Given the description of an element on the screen output the (x, y) to click on. 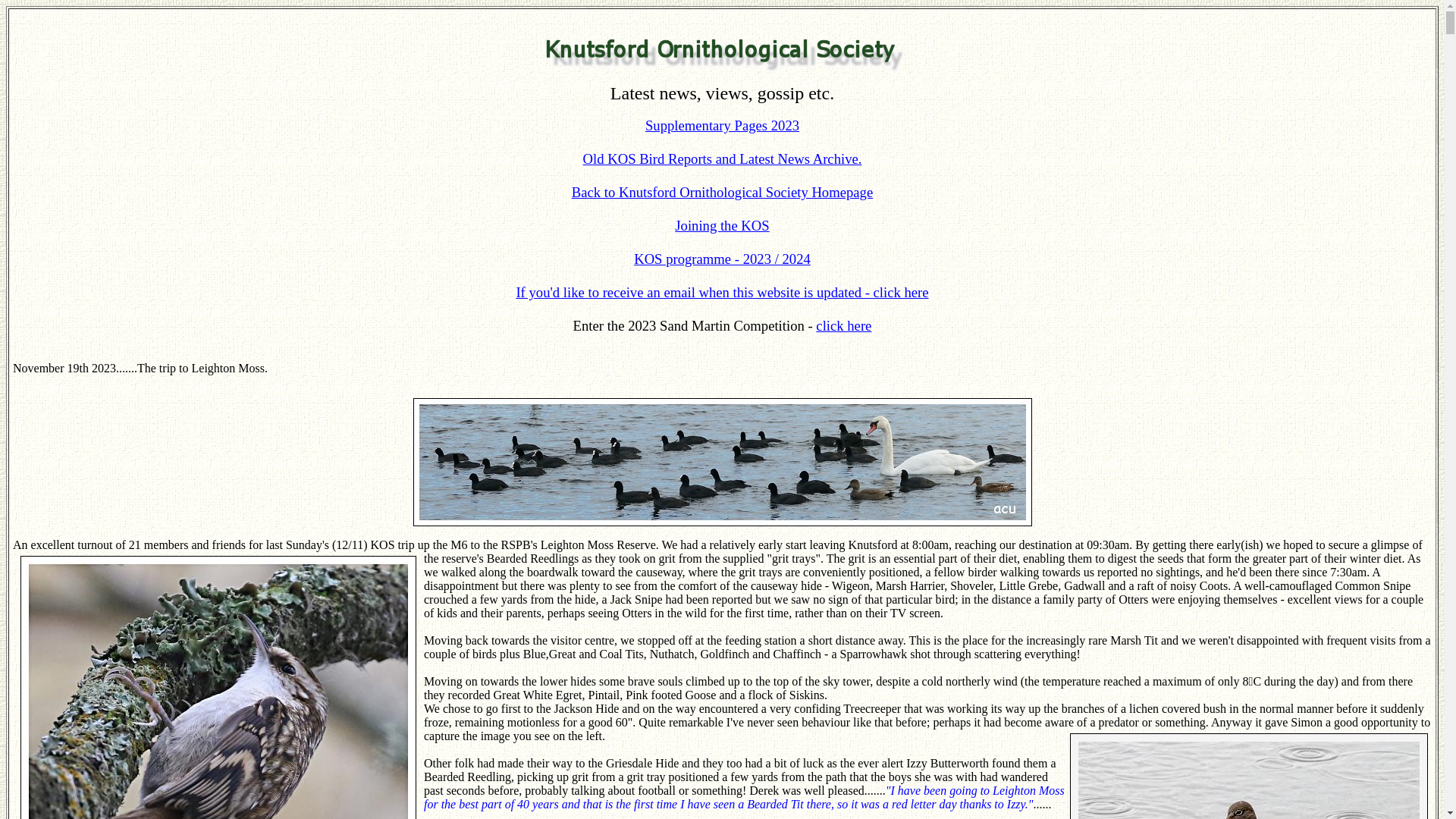
Old KOS Bird Reports and Latest News Archive. Element type: text (722, 158)
Joining the KOS Element type: text (721, 225)
Back to Knutsford Ornithological Society Homepage Element type: text (721, 192)
KOS programme - 2023 / 2024 Element type: text (721, 258)
click here Element type: text (843, 325)
Supplementary Pages 2023 Element type: text (722, 125)
